Given the description of an element on the screen output the (x, y) to click on. 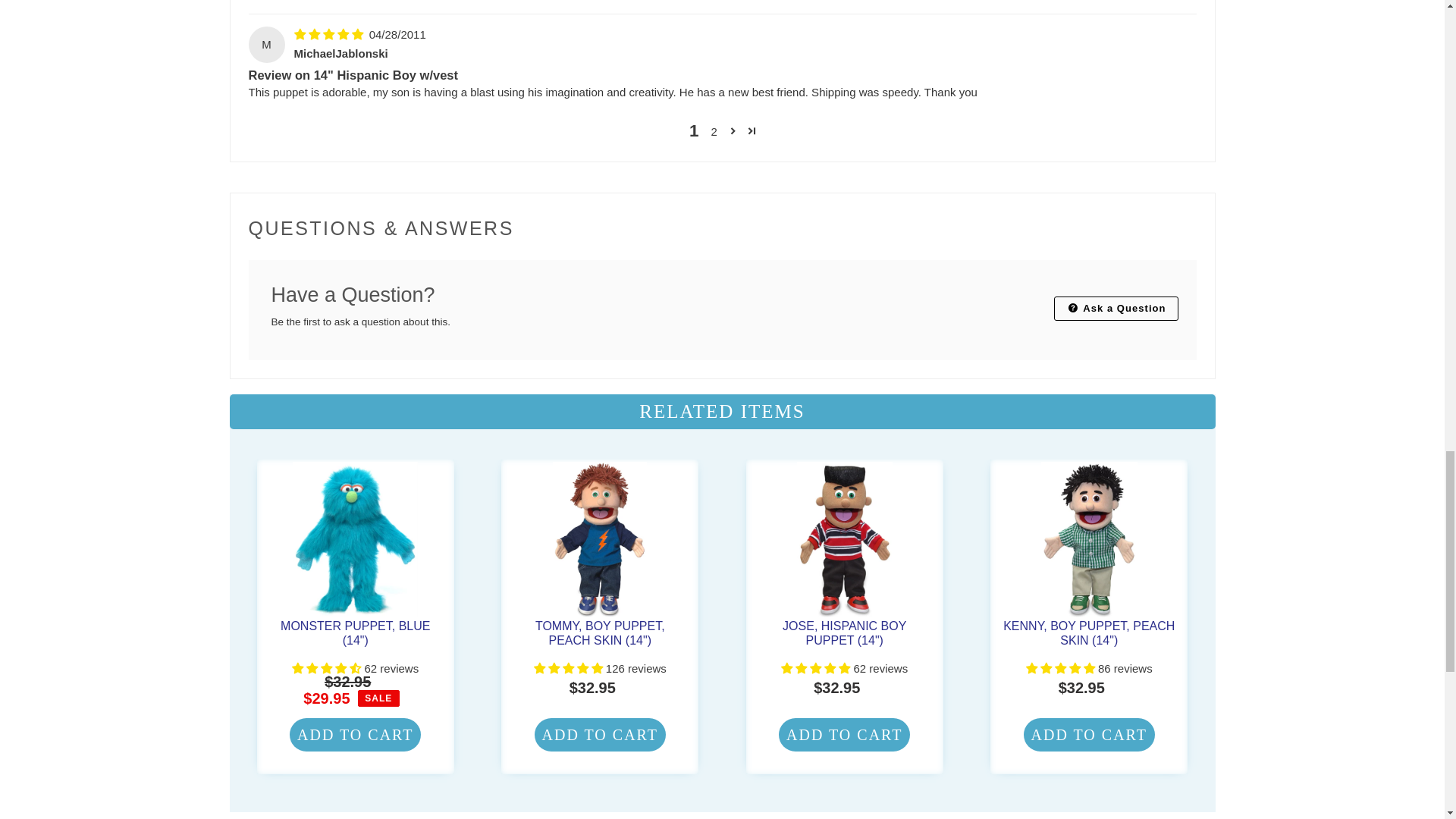
Add to cart (599, 734)
Add to cart (1088, 734)
Add to cart (354, 734)
Add to cart (844, 734)
